Given the description of an element on the screen output the (x, y) to click on. 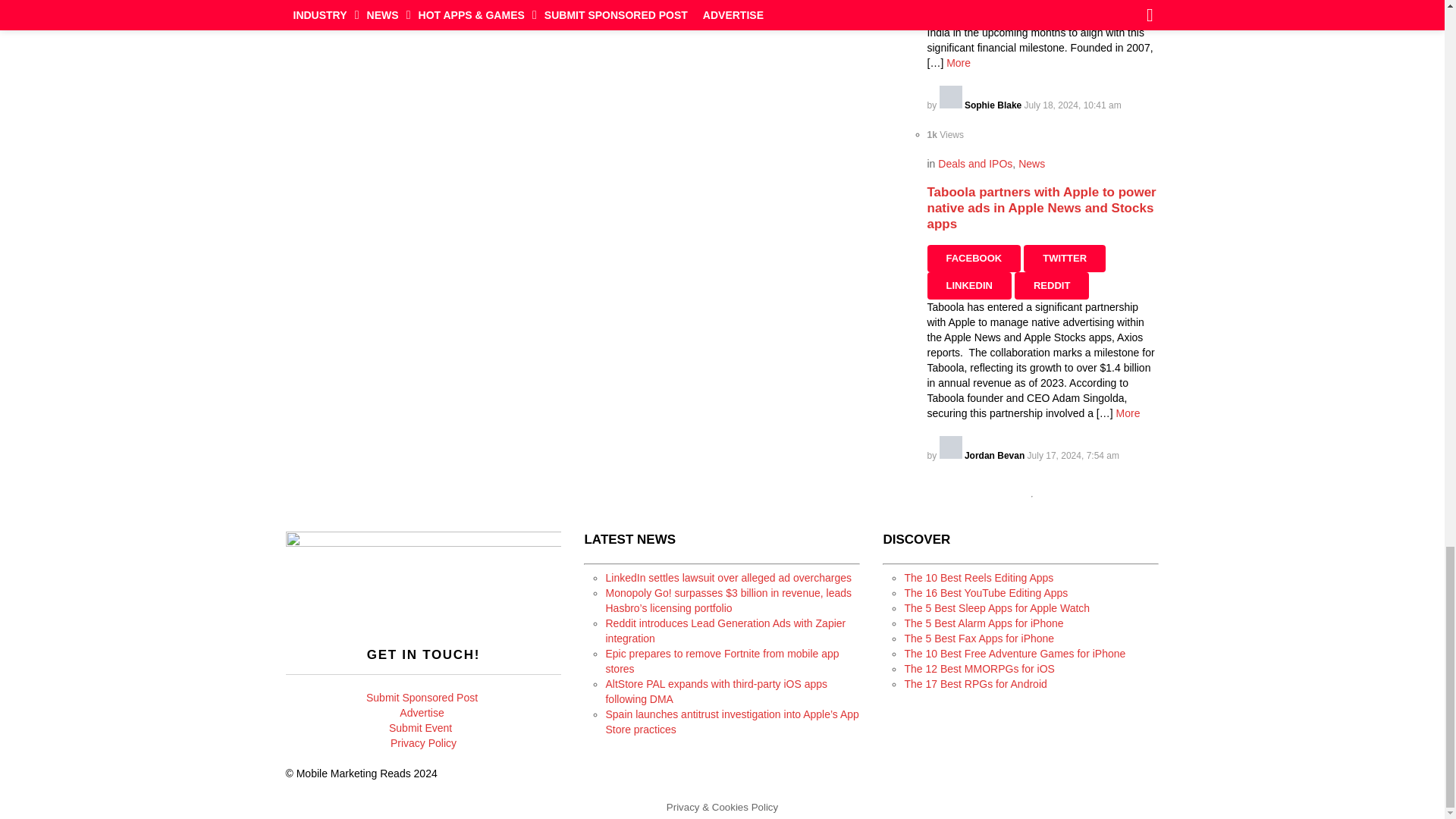
Posts by Sophie Blake (982, 104)
Posts by Jordan Bevan (983, 455)
